Given the description of an element on the screen output the (x, y) to click on. 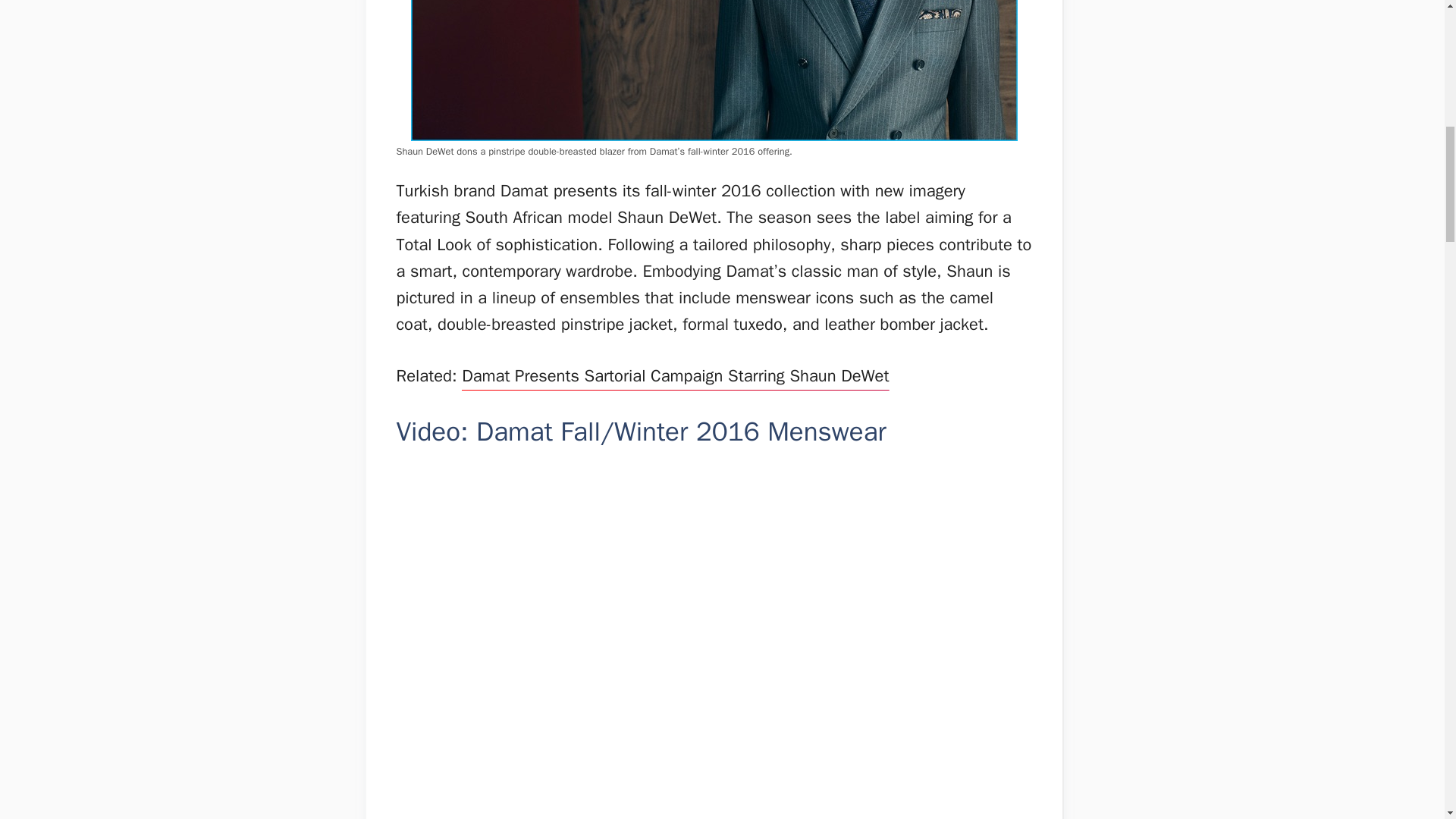
Damat 2016 Fall Winter Menswear 010 (713, 70)
